Given the description of an element on the screen output the (x, y) to click on. 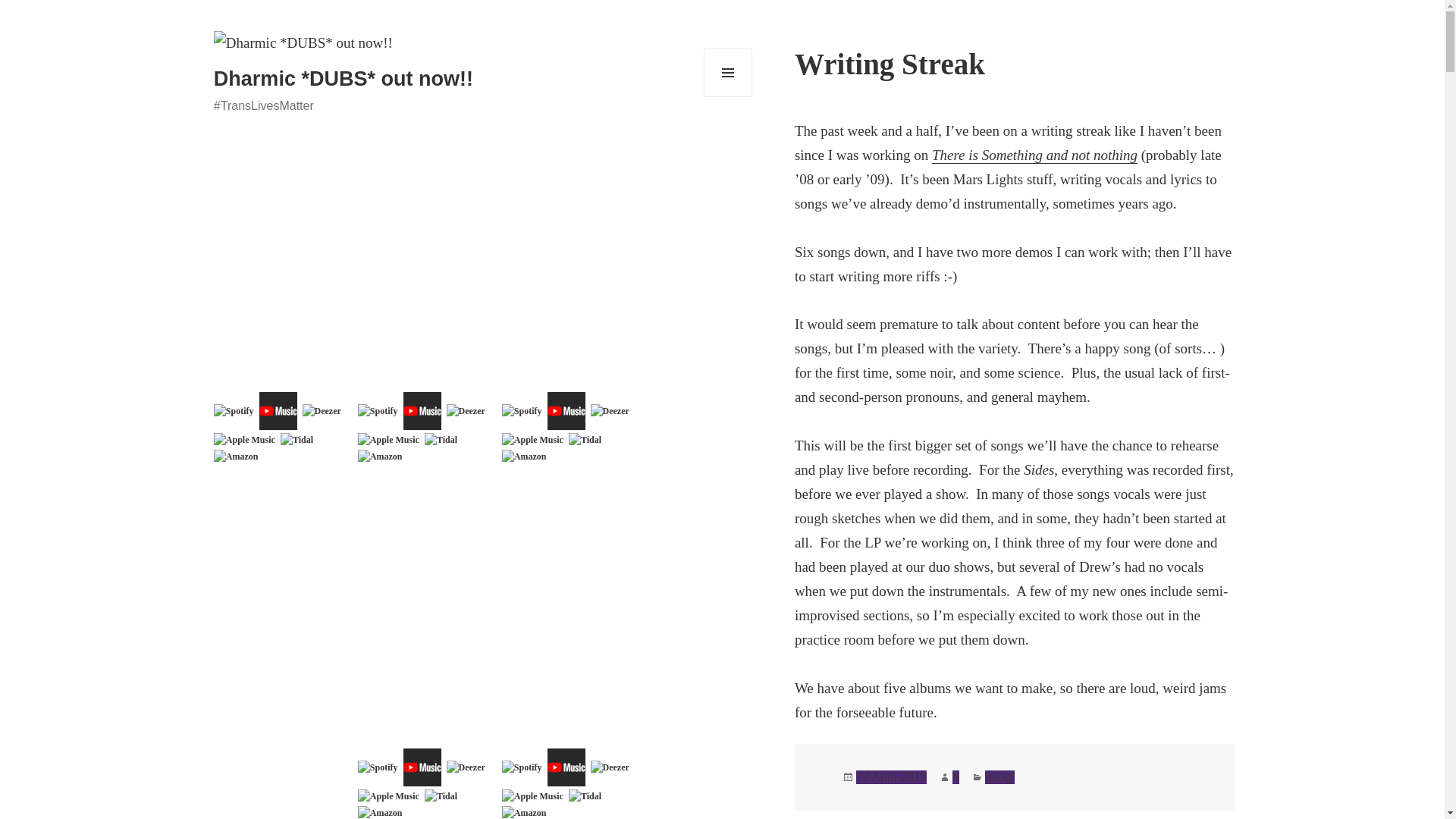
MENU AND WIDGETS (727, 72)
